Given the description of an element on the screen output the (x, y) to click on. 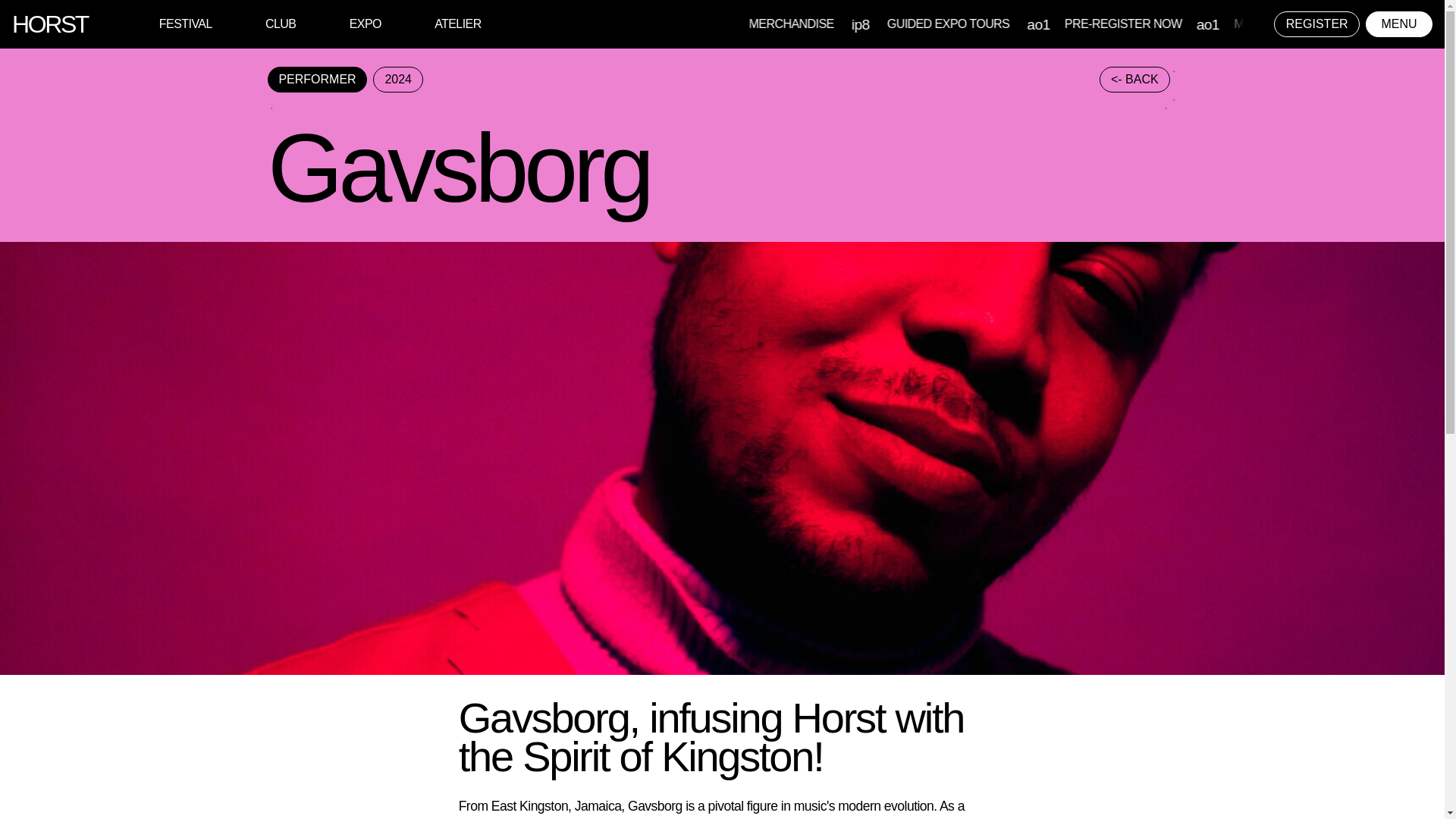
ATELIER (457, 23)
CLUB (279, 23)
FESTIVAL (185, 23)
PRE-REGISTER NOW (782, 23)
PRE-REGISTER NOW (1262, 23)
MERCHANDISE (935, 23)
HORST (49, 24)
GUIDED EXPO TOURS (1087, 23)
EXPO (365, 23)
